Given the description of an element on the screen output the (x, y) to click on. 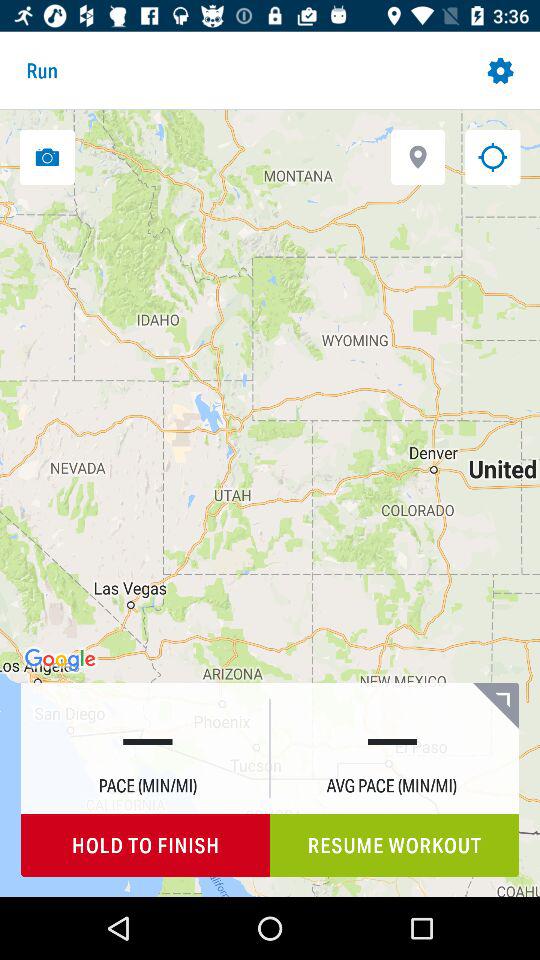
open icon at the top left corner (47, 156)
